Given the description of an element on the screen output the (x, y) to click on. 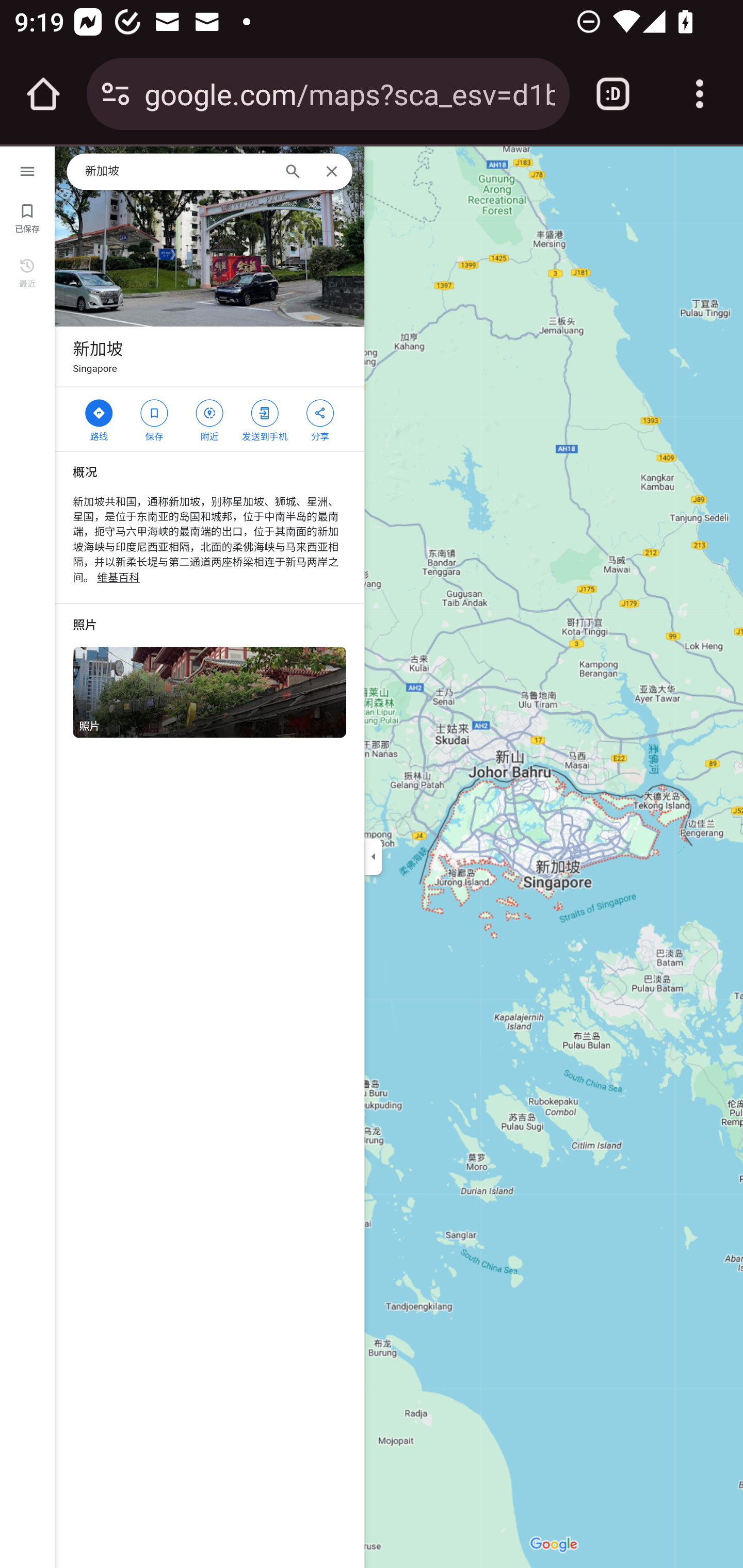
Open the home page (43, 93)
Connection is secure (115, 93)
Switch or close tabs (612, 93)
Customize and control Google Chrome (699, 93)
